Given the description of an element on the screen output the (x, y) to click on. 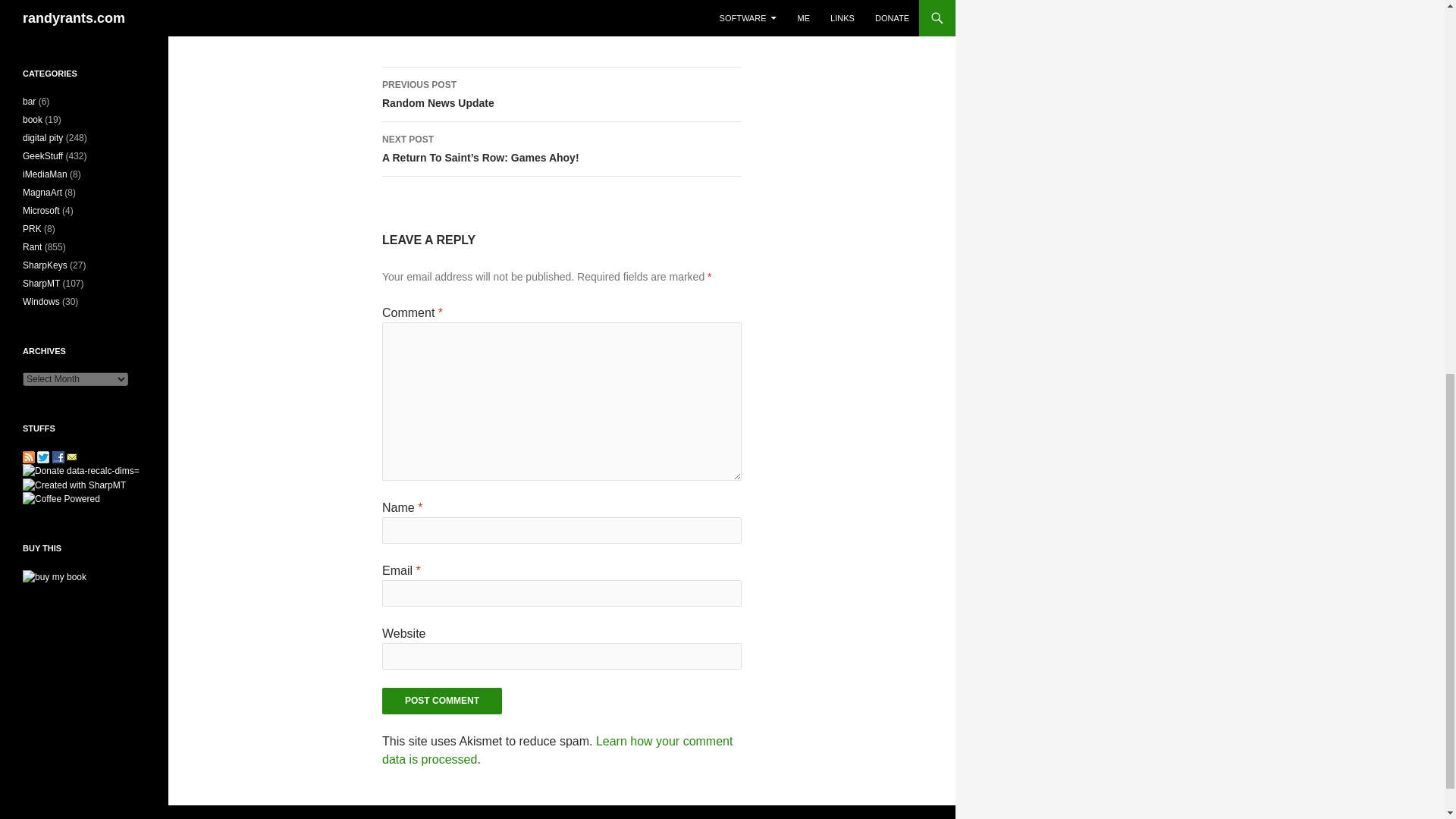
Learn how your comment data is processed (556, 749)
Post Comment (441, 700)
SharpKeys 3.9.4 (76, 16)
Post Comment (561, 94)
APPLE (441, 700)
